Given the description of an element on the screen output the (x, y) to click on. 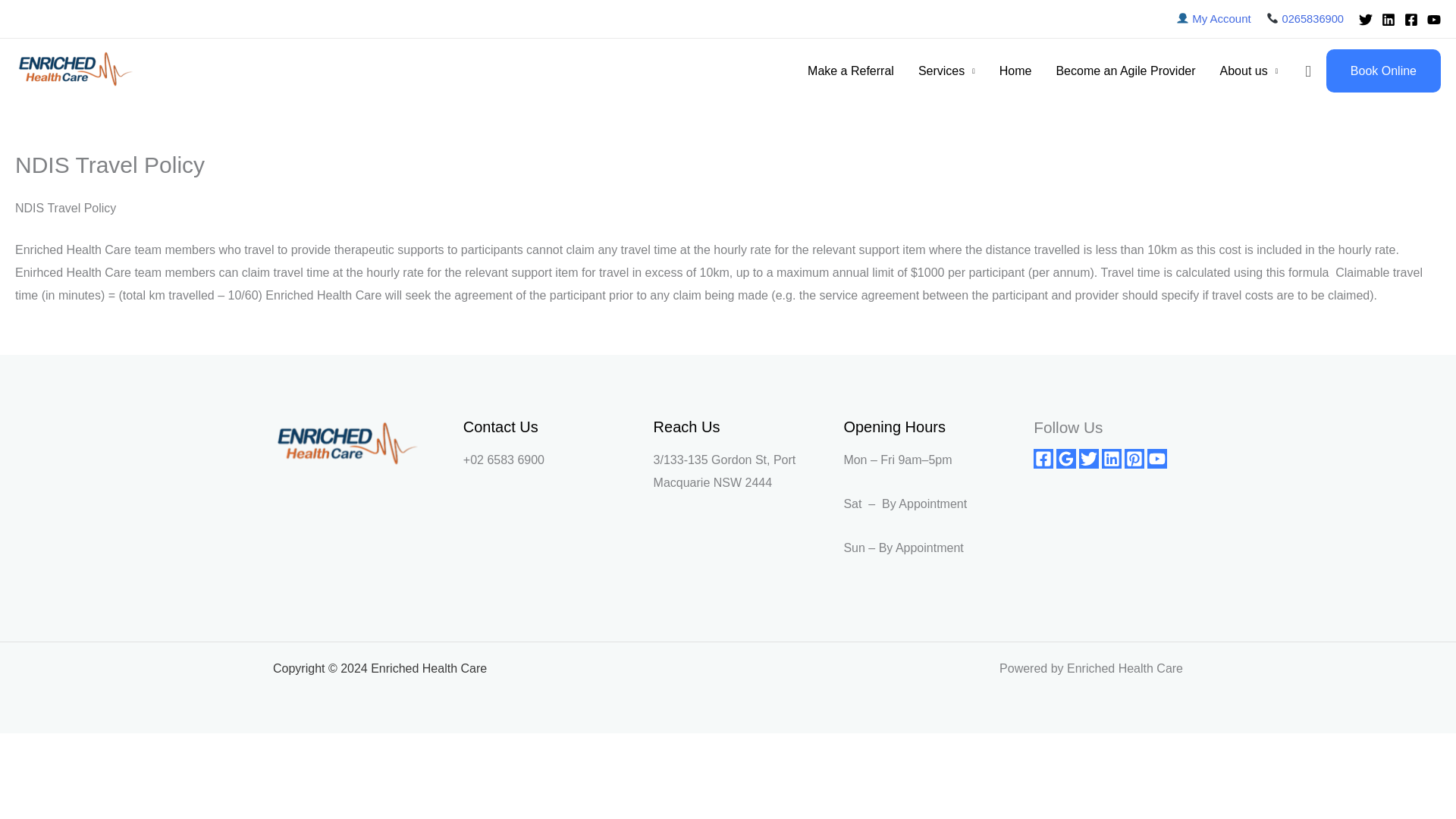
About us (1249, 70)
Make a Referral (849, 70)
Home (1015, 70)
Become an Agile Provider (1125, 70)
Services (946, 70)
0265836900 (1312, 19)
My Account (1221, 18)
Book Online (1383, 71)
